Given the description of an element on the screen output the (x, y) to click on. 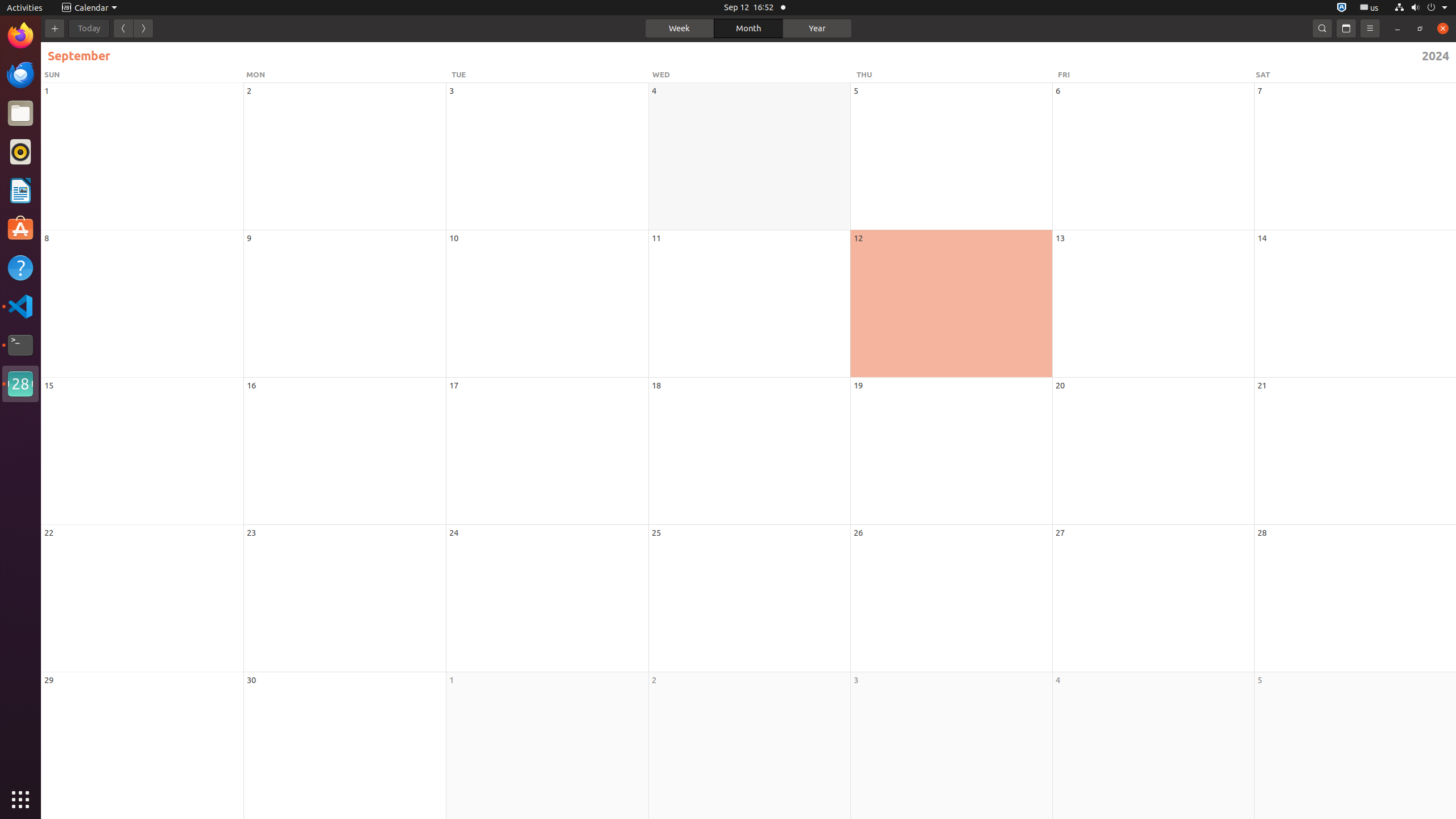
17 Element type: label (453, 385)
18 Element type: label (655, 385)
2024 Element type: label (1111, 55)
27 Element type: label (1059, 532)
6 Element type: label (1057, 90)
